Given the description of an element on the screen output the (x, y) to click on. 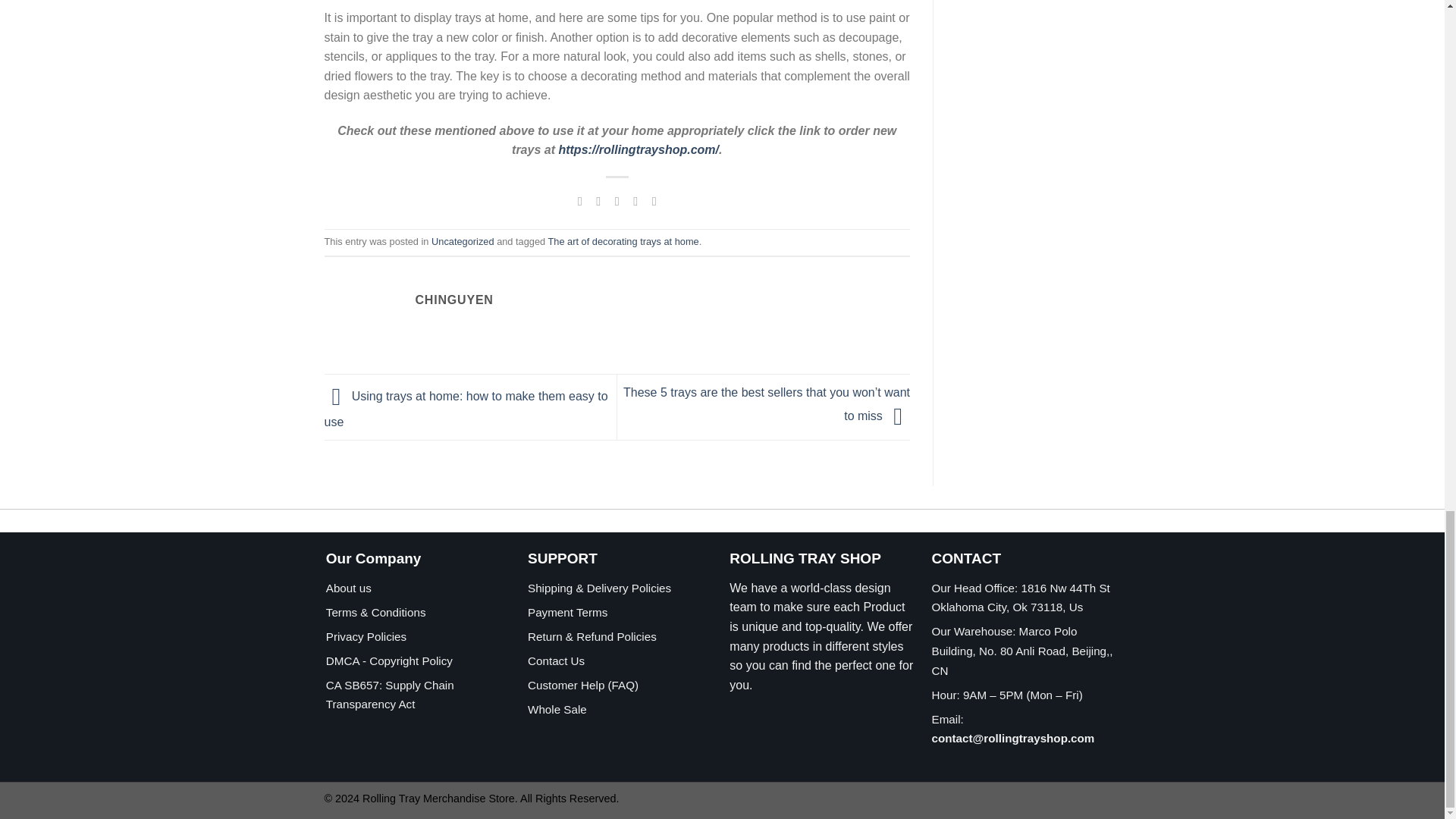
Share on Facebook (579, 200)
Email to a Friend (617, 200)
Share on LinkedIn (654, 200)
Pin on Pinterest (635, 200)
Share on Twitter (598, 200)
